Given the description of an element on the screen output the (x, y) to click on. 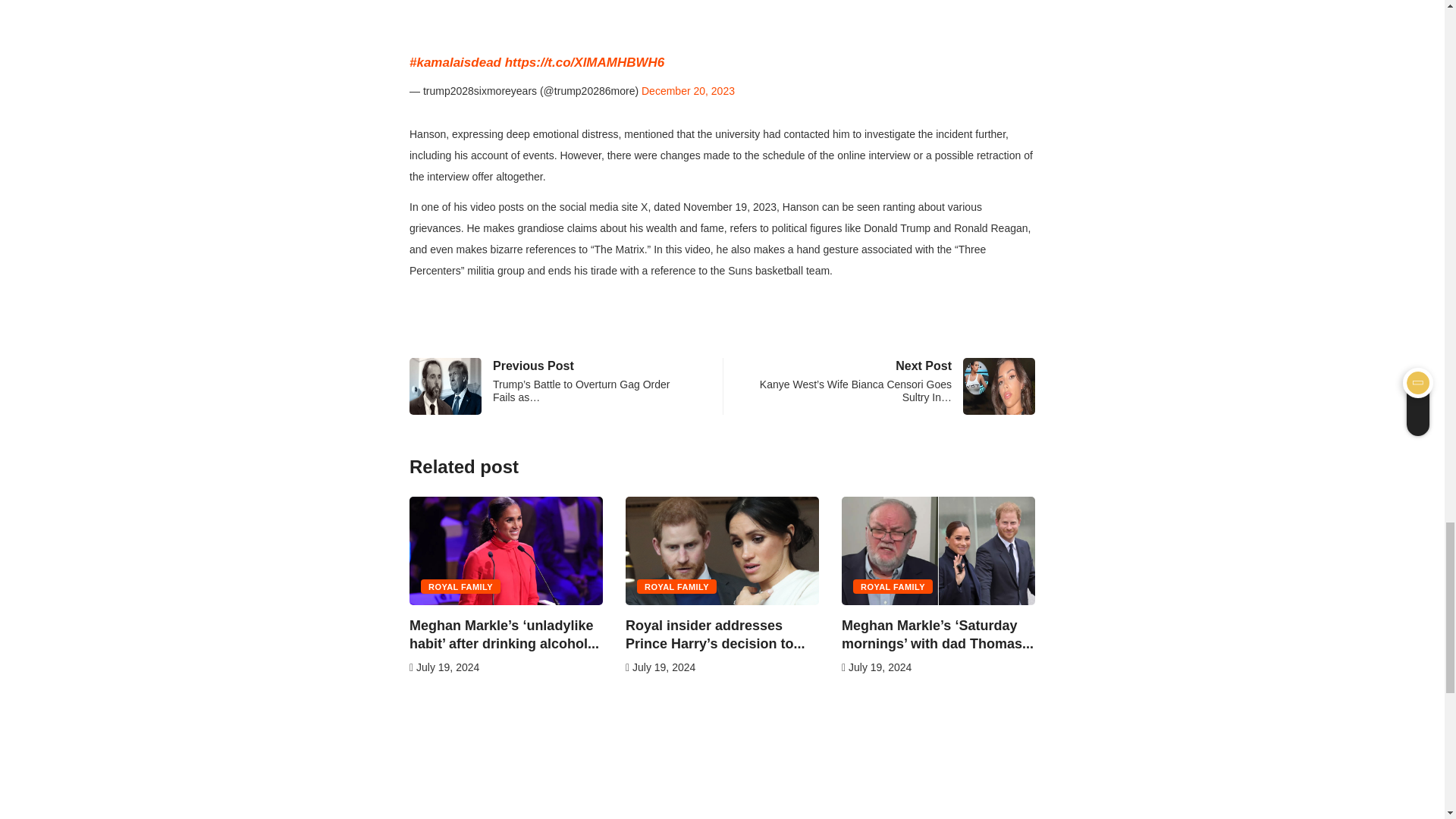
December 20, 2023 (688, 91)
